Given the description of an element on the screen output the (x, y) to click on. 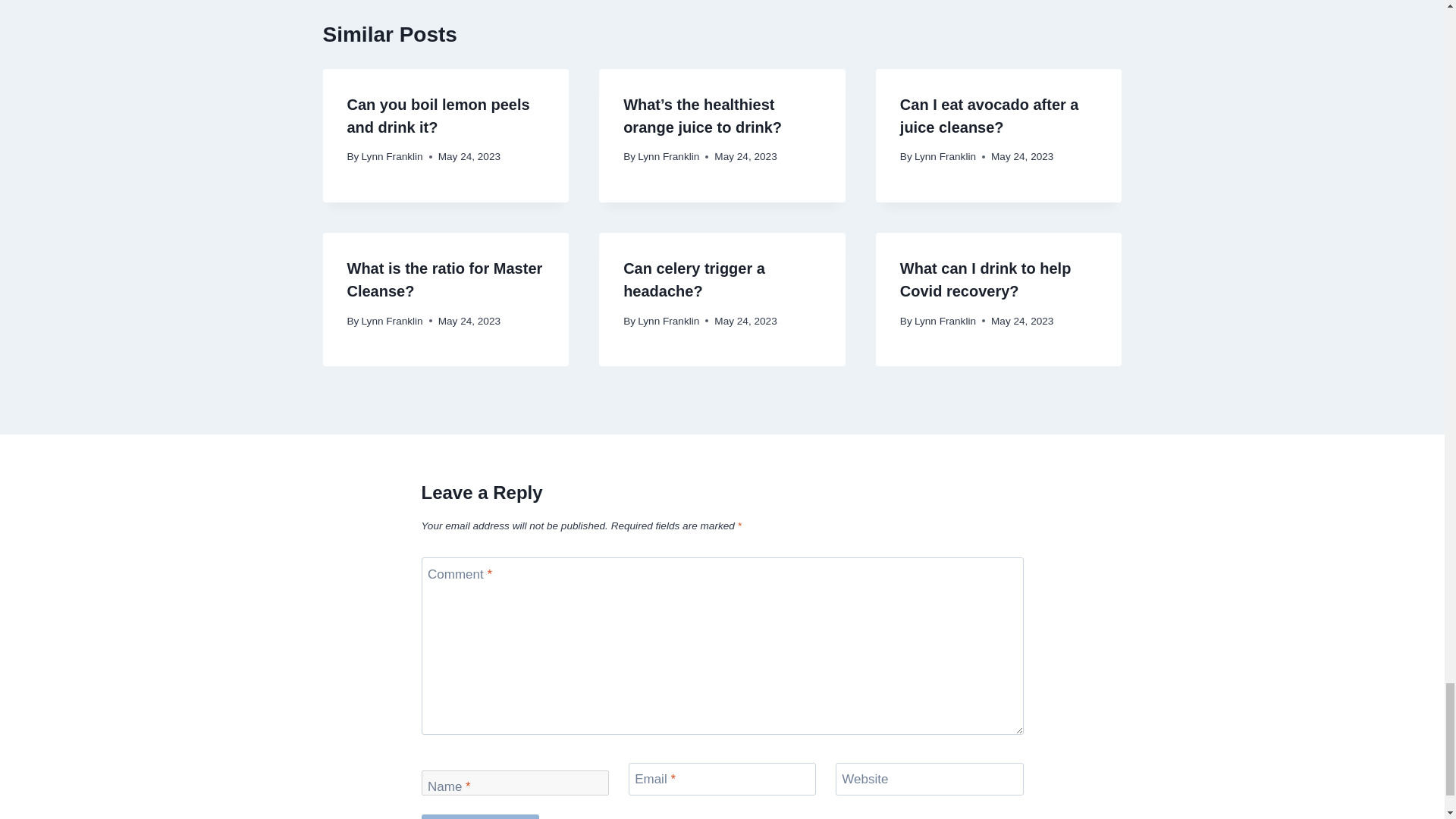
Lynn Franklin (667, 156)
Lynn Franklin (392, 156)
What is the ratio for Master Cleanse? (445, 279)
Can you boil lemon peels and drink it? (438, 115)
Lynn Franklin (944, 156)
Post Comment (480, 816)
Can I eat avocado after a juice cleanse? (988, 115)
